Given the description of an element on the screen output the (x, y) to click on. 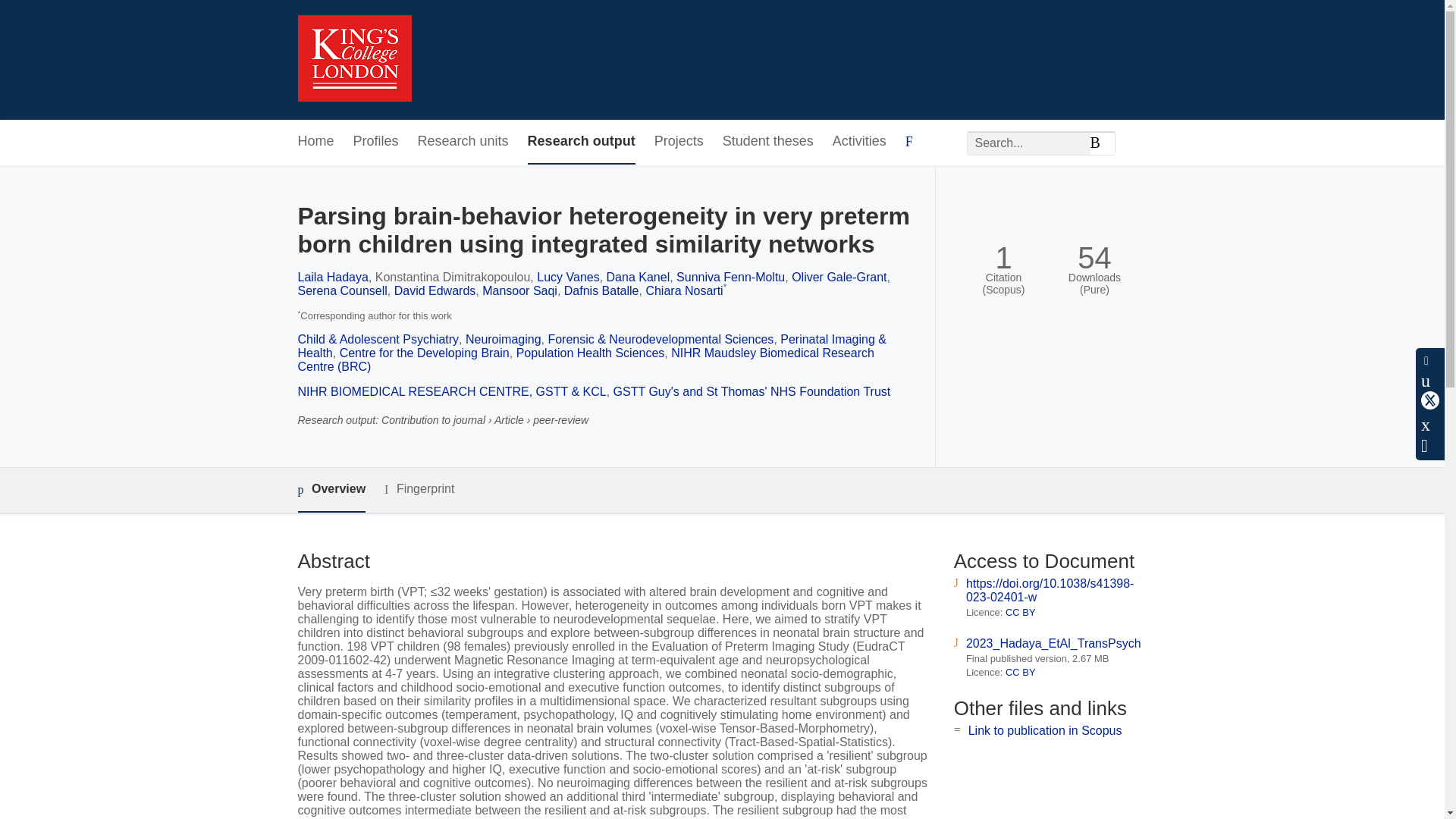
Serena Counsell (342, 290)
David Edwards (435, 290)
Lucy Vanes (567, 277)
Research units (462, 141)
Centre for the Developing Brain (424, 352)
Profiles (375, 141)
Chiara Nosarti (683, 290)
Laila Hadaya (332, 277)
Oliver Gale-Grant (839, 277)
Projects (678, 141)
